Given the description of an element on the screen output the (x, y) to click on. 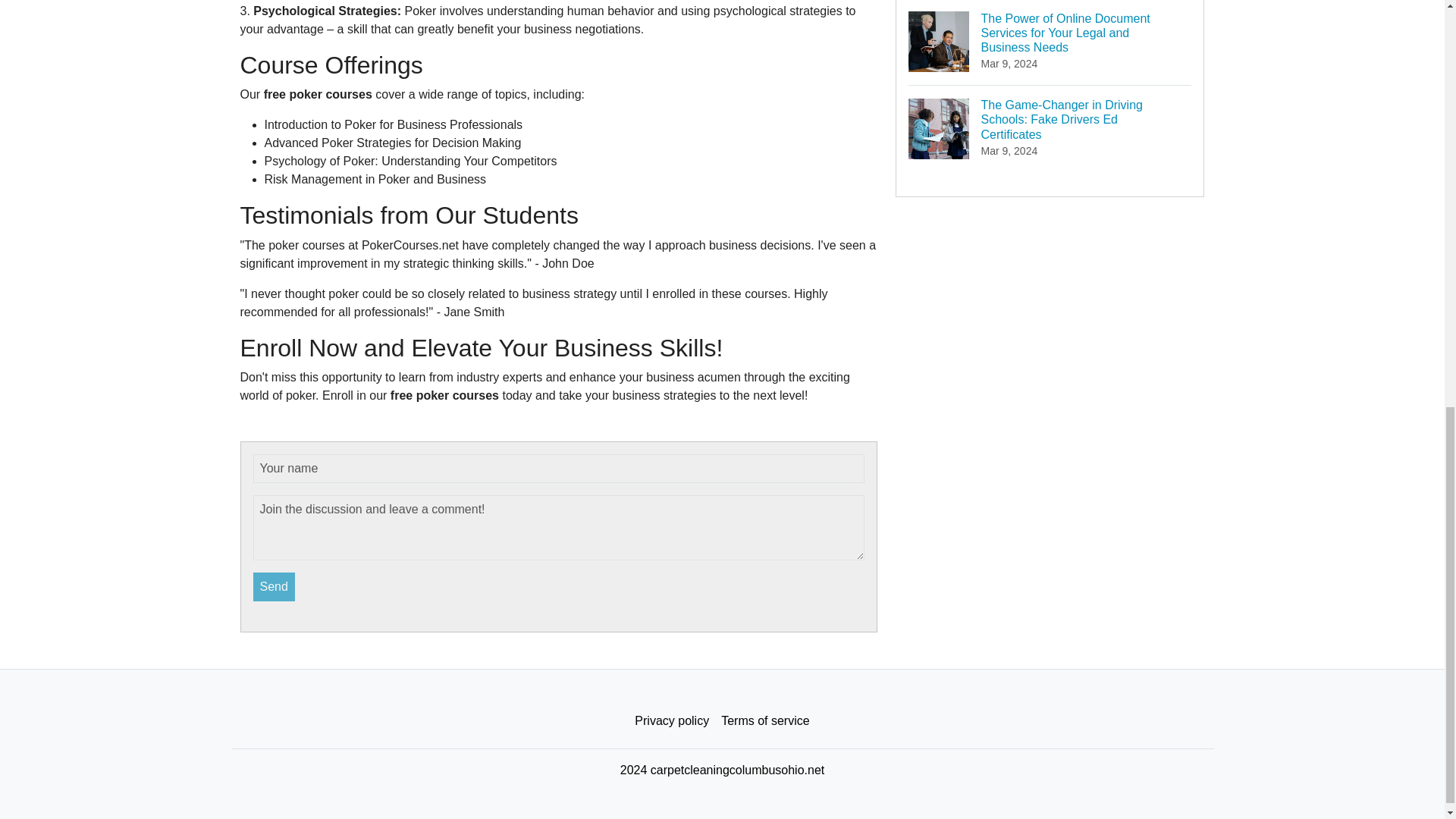
Terms of service (764, 720)
Send (274, 586)
Send (274, 586)
Privacy policy (671, 720)
